Given the description of an element on the screen output the (x, y) to click on. 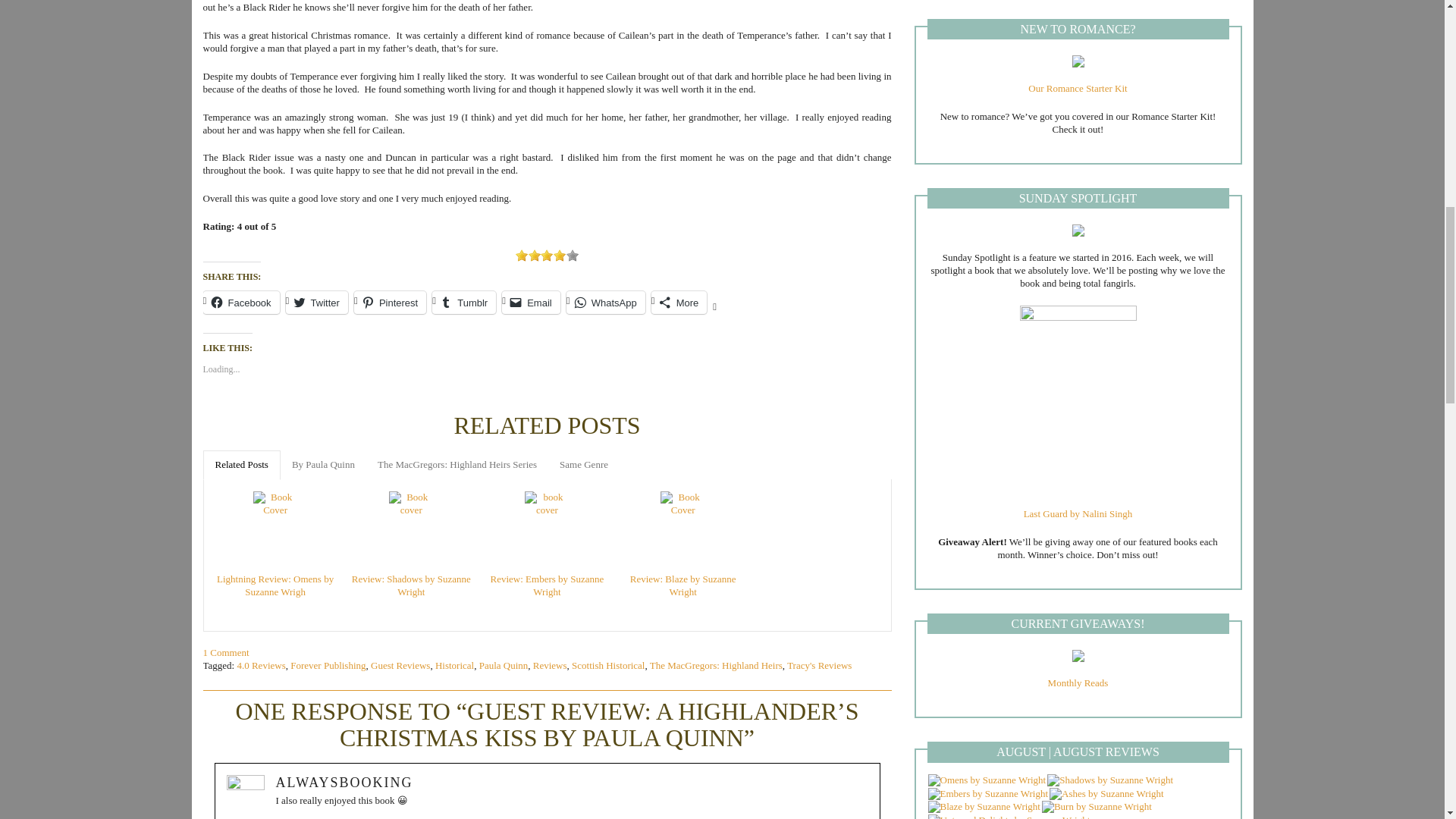
Click to share on WhatsApp (605, 302)
Click to share on Pinterest (389, 302)
Click to share on Twitter (316, 302)
Click to share on Facebook (241, 302)
Click to email a link to a friend (531, 302)
Click to share on Tumblr (464, 302)
